Given the description of an element on the screen output the (x, y) to click on. 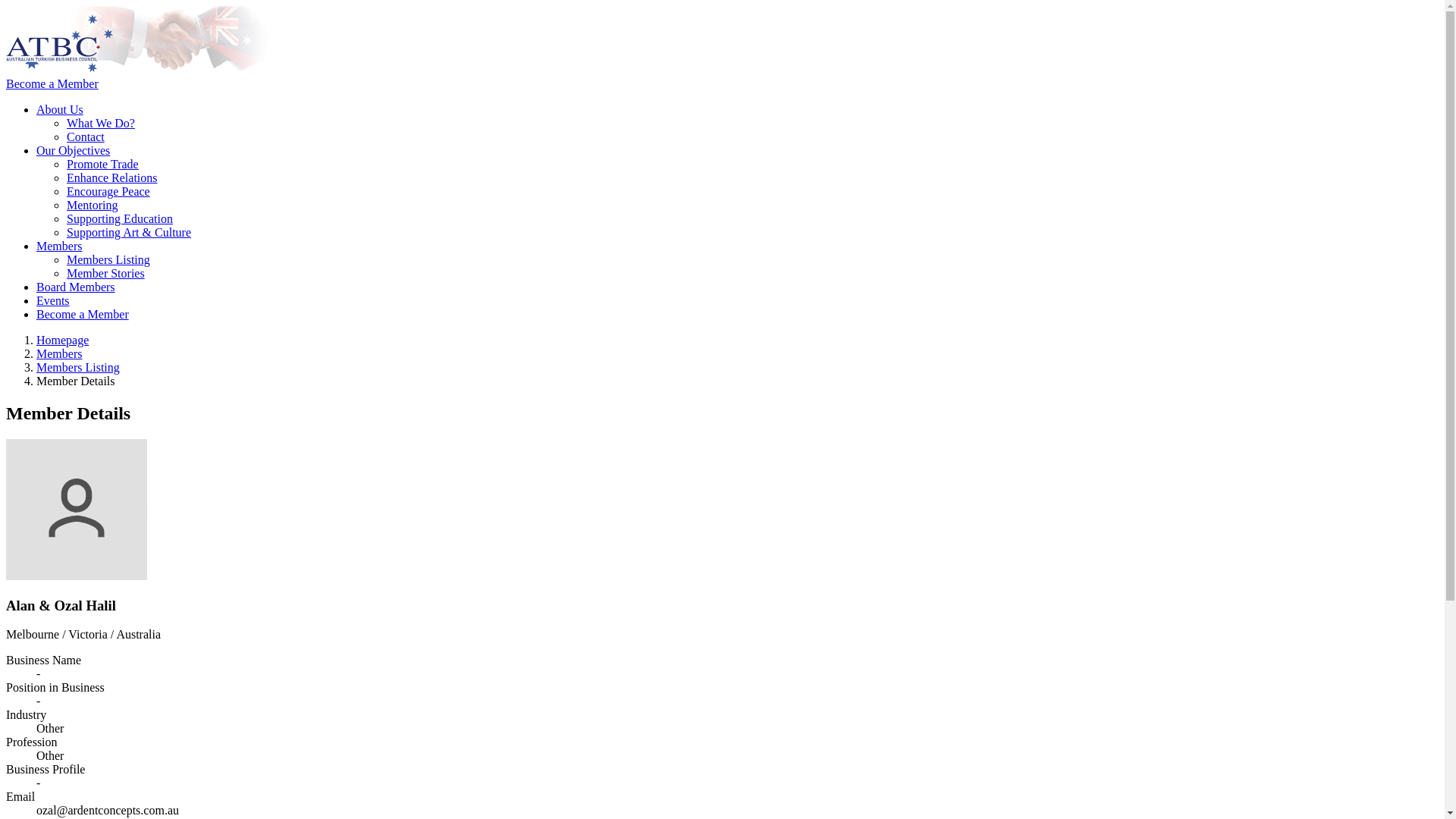
Supporting Art & Culture Element type: text (128, 231)
Our Objectives Element type: text (72, 150)
Become a Member Element type: text (82, 313)
Members Element type: text (58, 353)
Members Listing Element type: text (77, 366)
Enhance Relations Element type: text (111, 177)
Members Element type: text (58, 245)
Mentoring Element type: text (92, 204)
Become a Member Element type: text (52, 83)
Homepage Element type: text (62, 339)
Supporting Education Element type: text (119, 218)
What We Do? Element type: text (100, 122)
About Us Element type: text (59, 109)
Contact Element type: text (85, 136)
Promote Trade Element type: text (102, 163)
Members Listing Element type: text (108, 259)
Board Members Element type: text (75, 286)
Encourage Peace Element type: text (108, 191)
Member Stories Element type: text (105, 272)
Events Element type: text (52, 300)
